Given the description of an element on the screen output the (x, y) to click on. 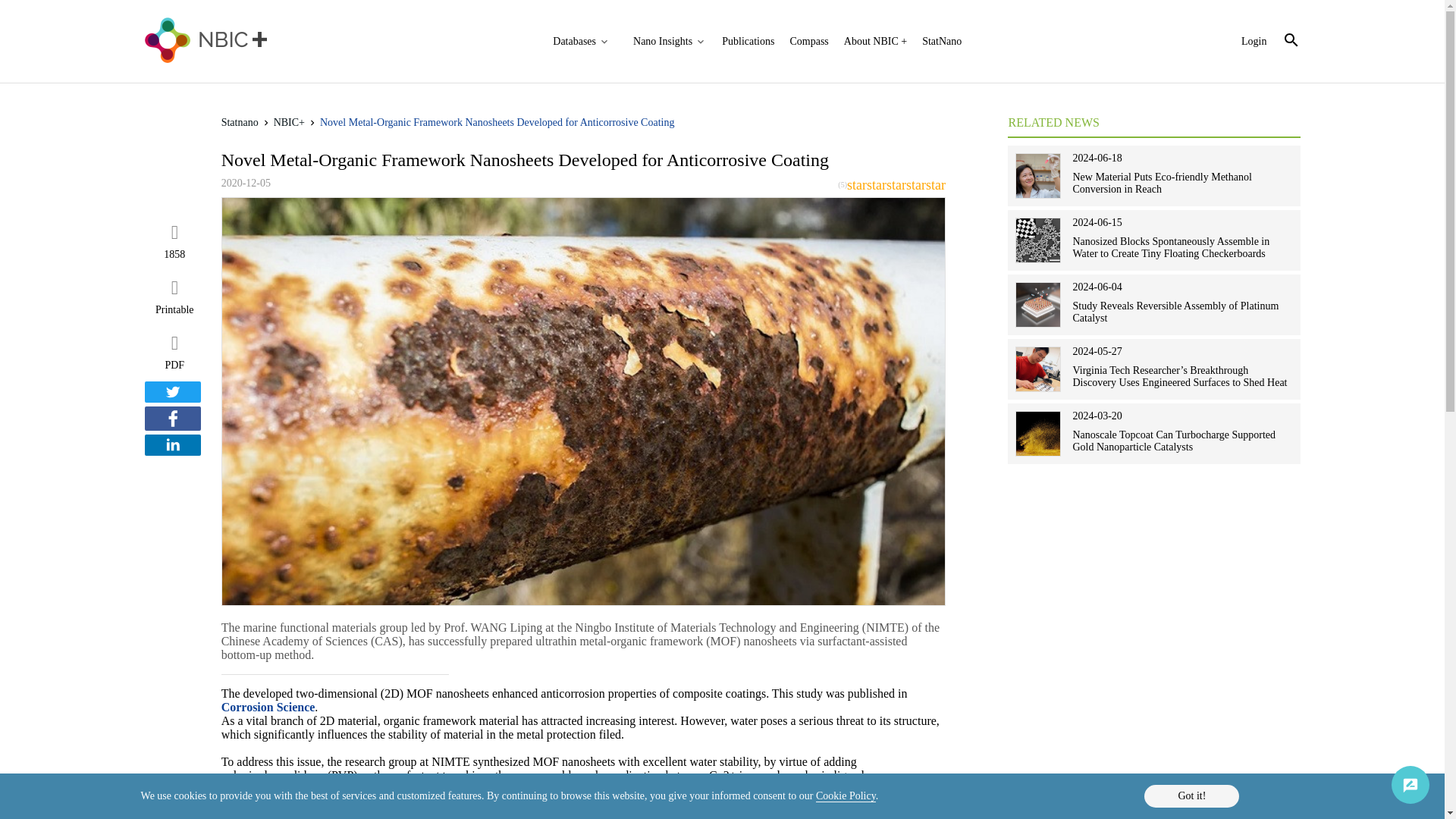
Statnano (240, 122)
Study Reveals Reversible Assembly of Platinum Catalyst (1174, 311)
Linkedin (172, 444)
Compass (808, 41)
Publications (748, 41)
Login (1253, 41)
StatNano (940, 41)
Facebook (172, 418)
Cookie Policy (845, 796)
New Material Puts Eco-friendly Methanol Conversion in Reach (1160, 182)
Twitter (172, 391)
Statnano (240, 122)
